Given the description of an element on the screen output the (x, y) to click on. 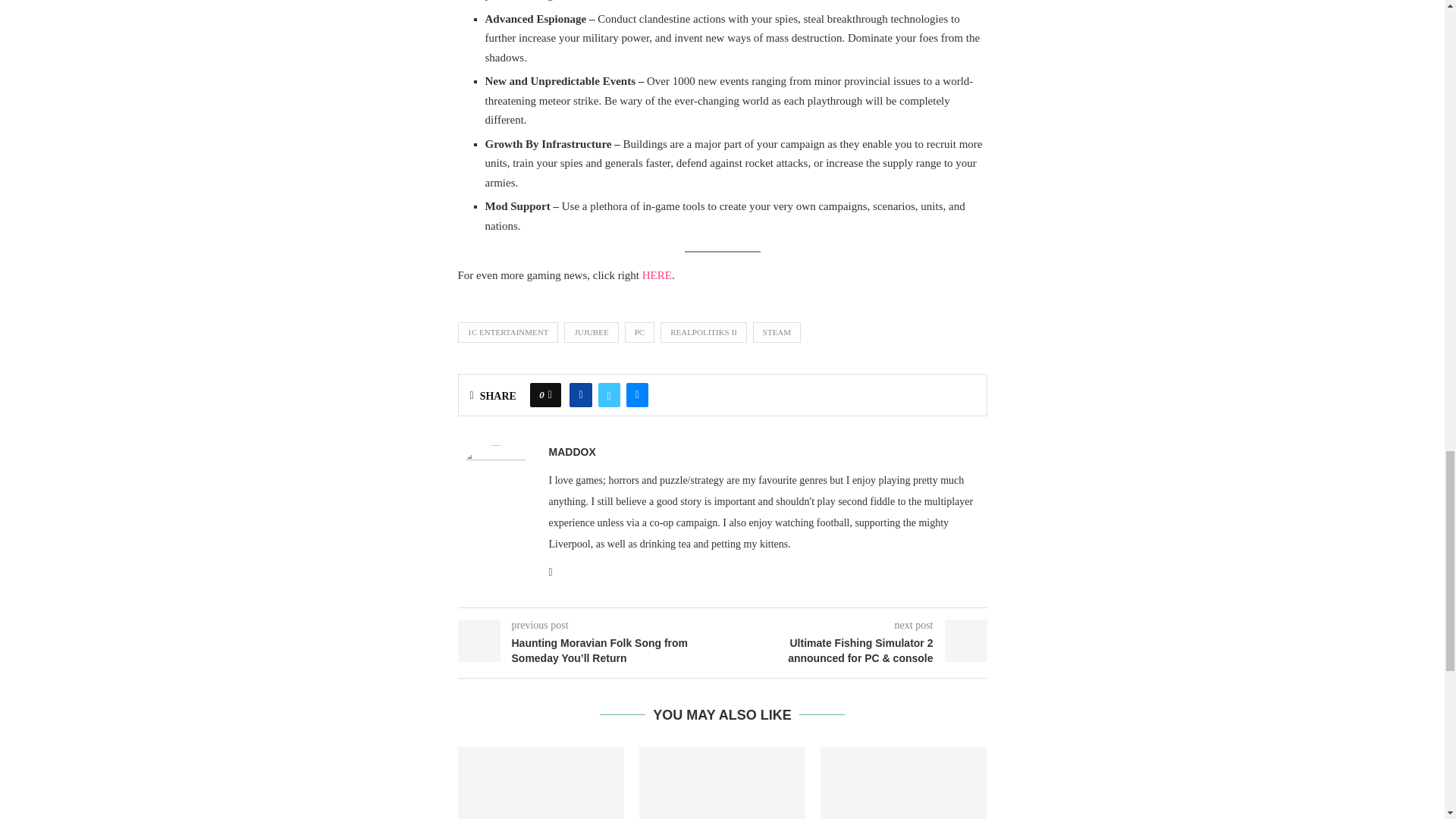
Author MaddOx (571, 452)
